Given the description of an element on the screen output the (x, y) to click on. 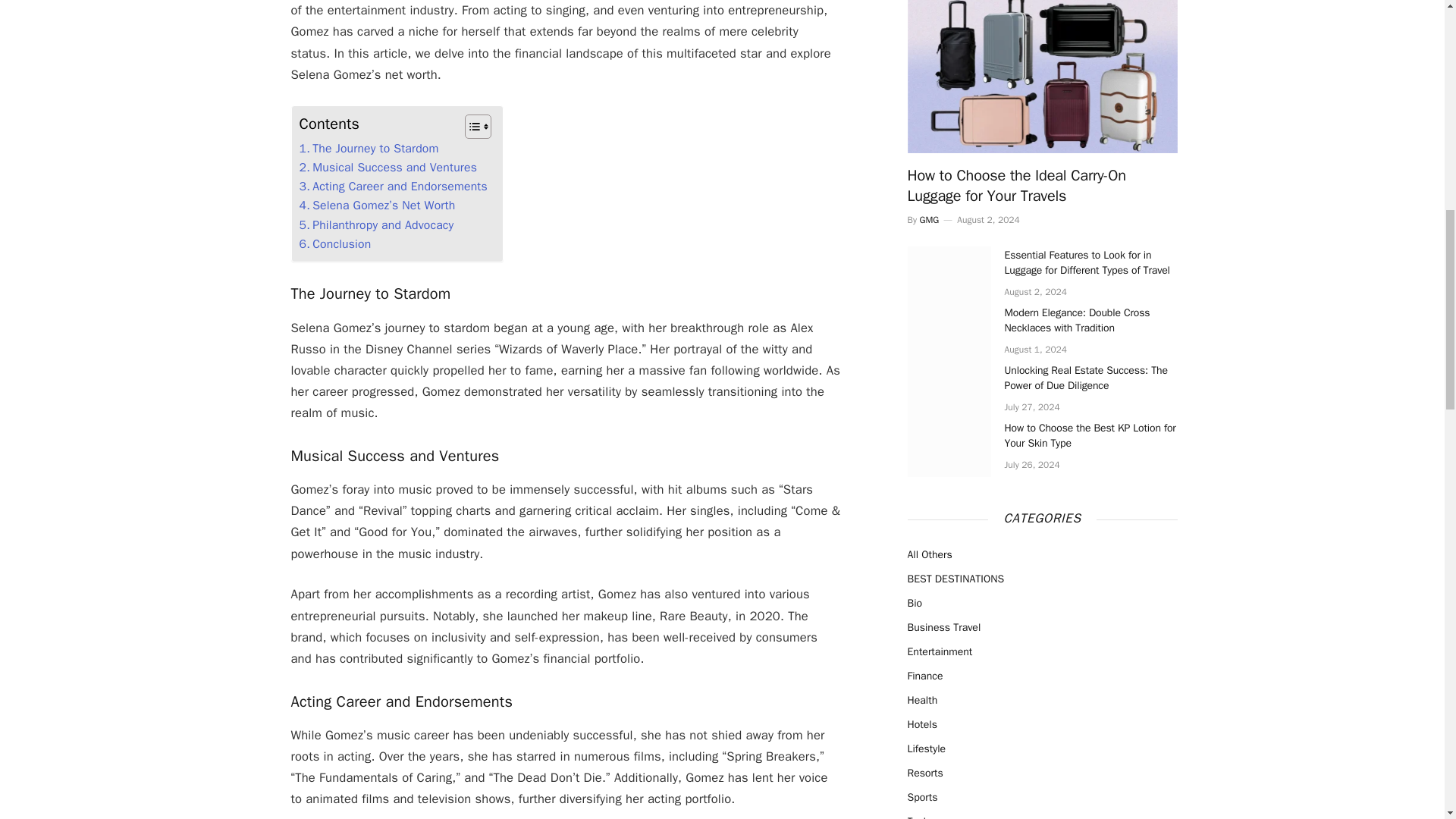
Musical Success and Ventures (387, 167)
The Journey to Stardom (368, 148)
